Given the description of an element on the screen output the (x, y) to click on. 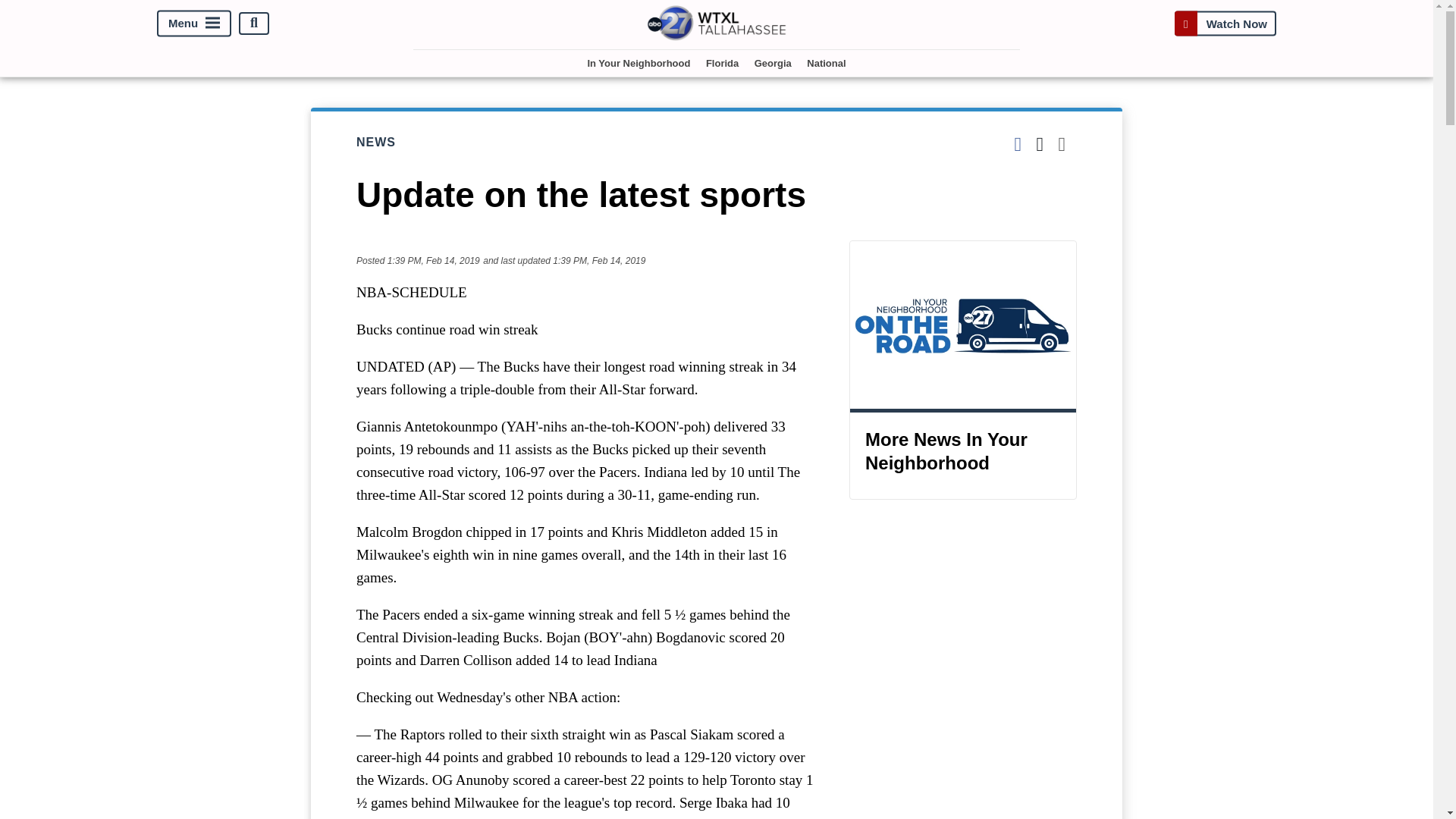
Watch Now (1224, 22)
Menu (194, 22)
